Given the description of an element on the screen output the (x, y) to click on. 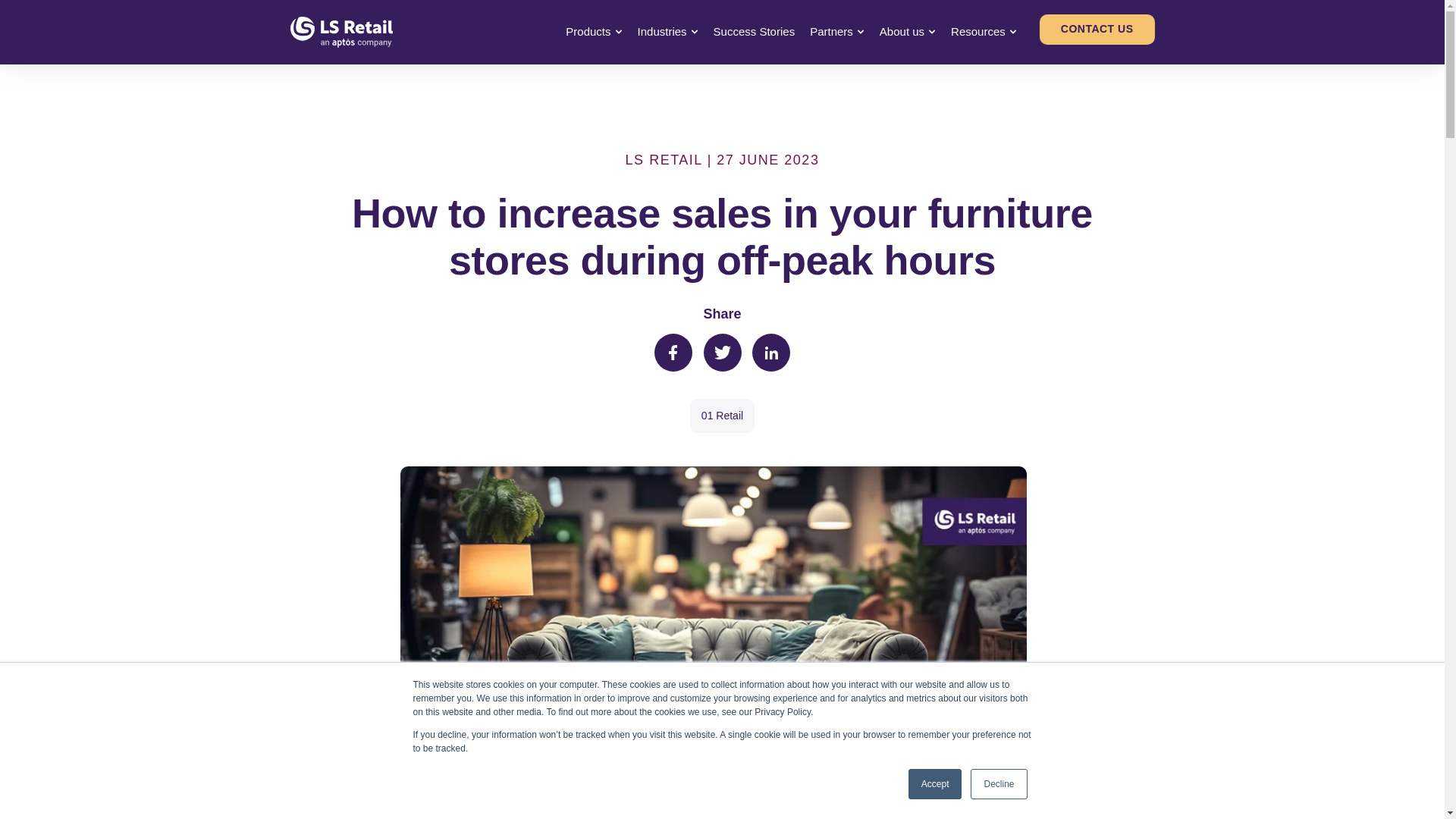
Decline (998, 784)
Show submenu for Industries (694, 31)
Accept (935, 784)
Show submenu for Products (618, 31)
ls-retail-logo-white (340, 31)
